Given the description of an element on the screen output the (x, y) to click on. 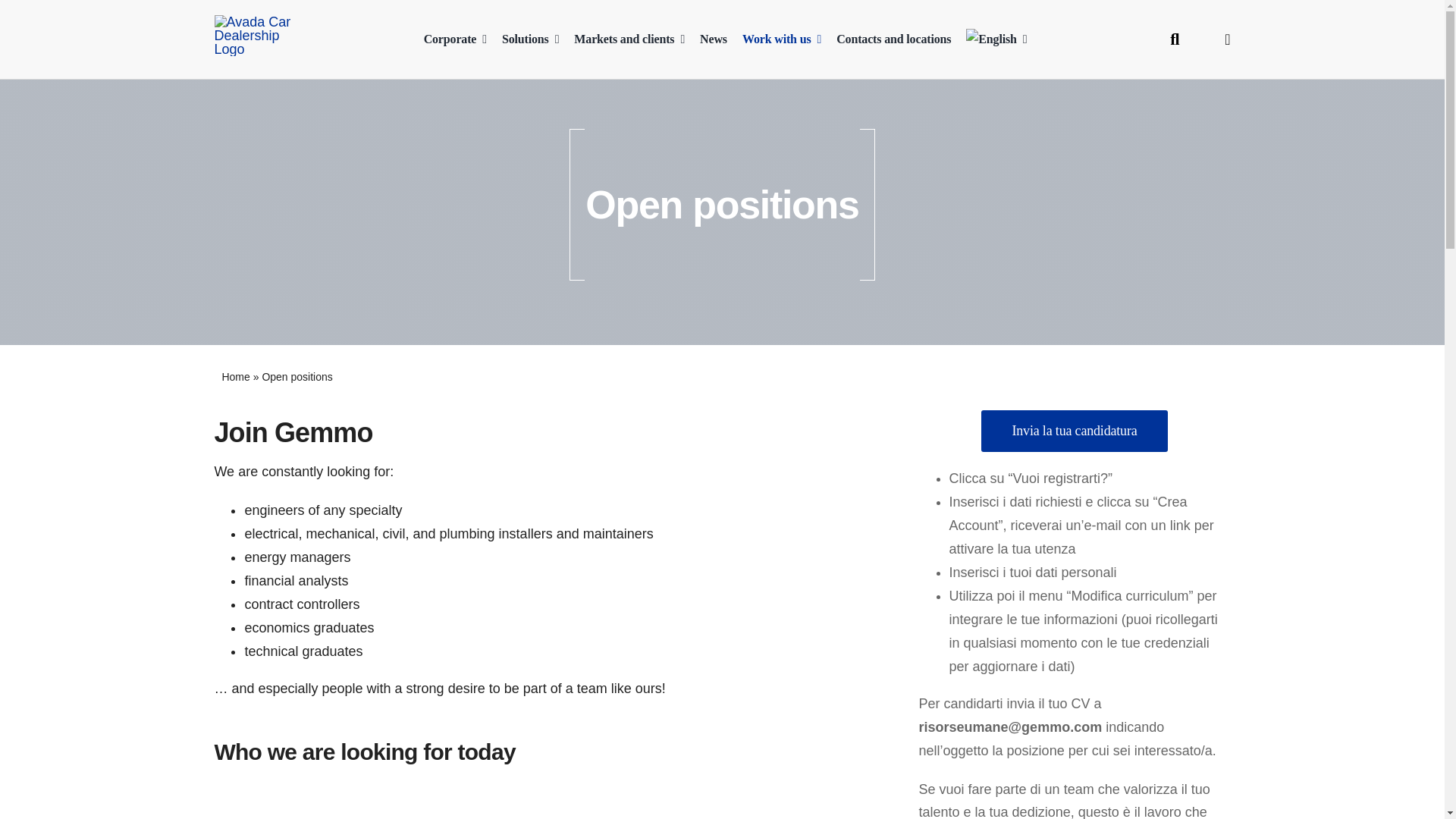
Markets and clients (628, 39)
Work with us (781, 39)
Solutions (530, 39)
Corporate (454, 39)
Contacts and locations (892, 39)
